Given the description of an element on the screen output the (x, y) to click on. 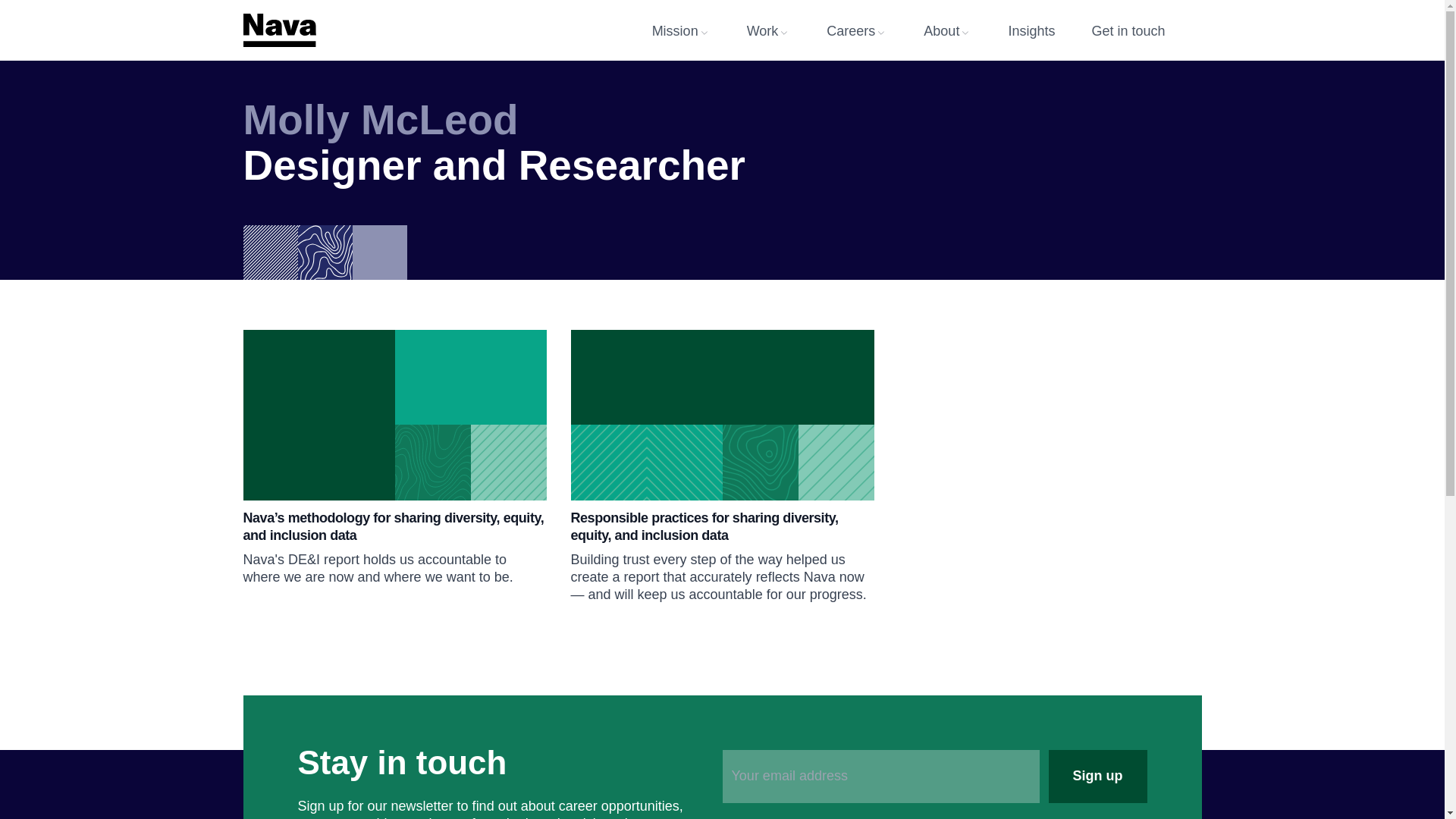
Get in touch (1145, 29)
Insights (1048, 29)
Sign up (1097, 776)
Sign up (1097, 776)
